Given the description of an element on the screen output the (x, y) to click on. 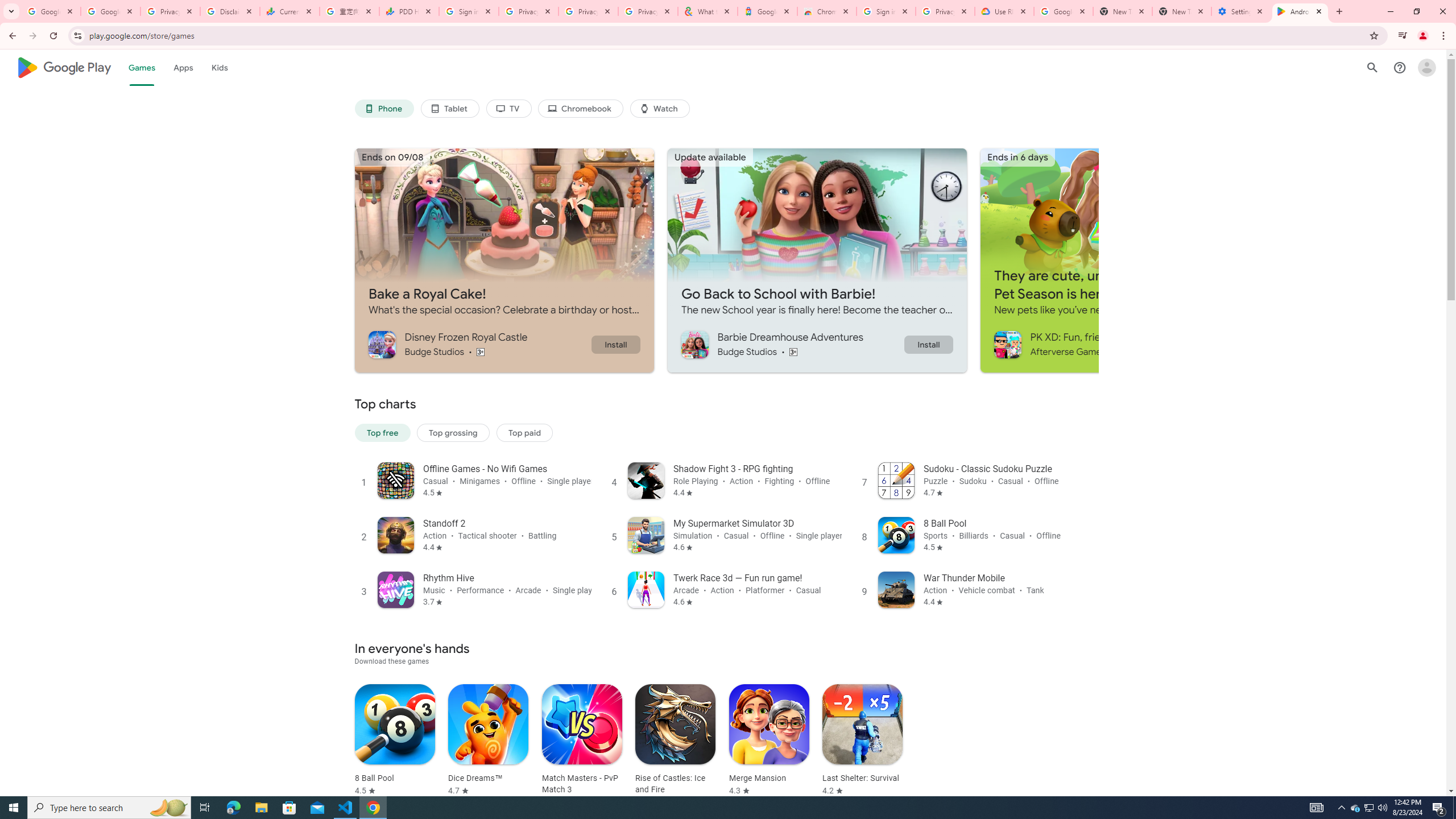
Pin to list (717, 749)
Get Add-ins (59, 286)
Save As (59, 380)
Unpin from list (696, 255)
Page down (1448, 640)
